Given the description of an element on the screen output the (x, y) to click on. 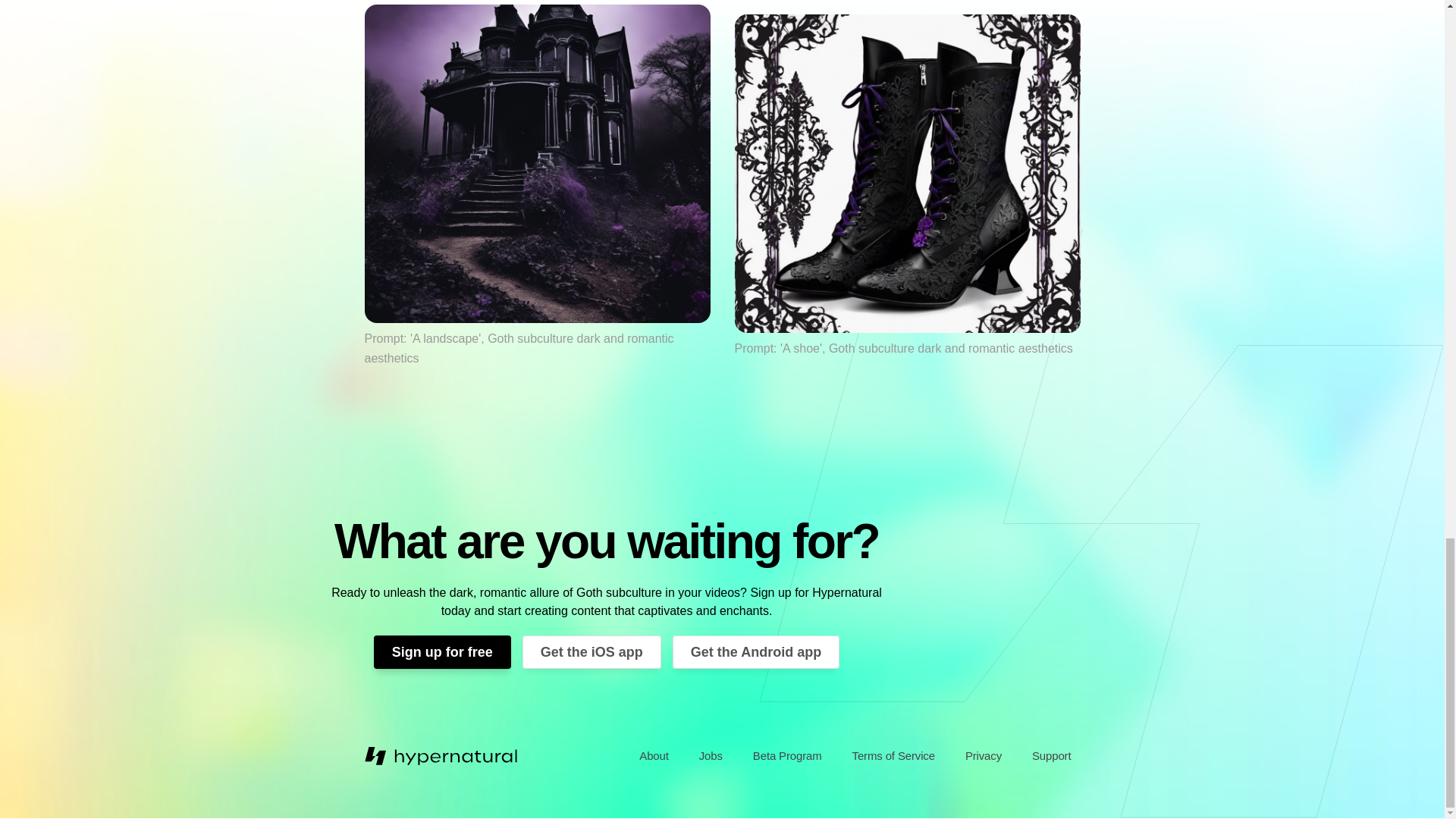
Privacy (983, 756)
Sign up for free (442, 652)
Get the iOS app (591, 652)
Jobs (711, 756)
Get the Android app (756, 652)
About (653, 756)
Support (1051, 756)
Beta Program (787, 756)
Terms of Service (893, 756)
